Given the description of an element on the screen output the (x, y) to click on. 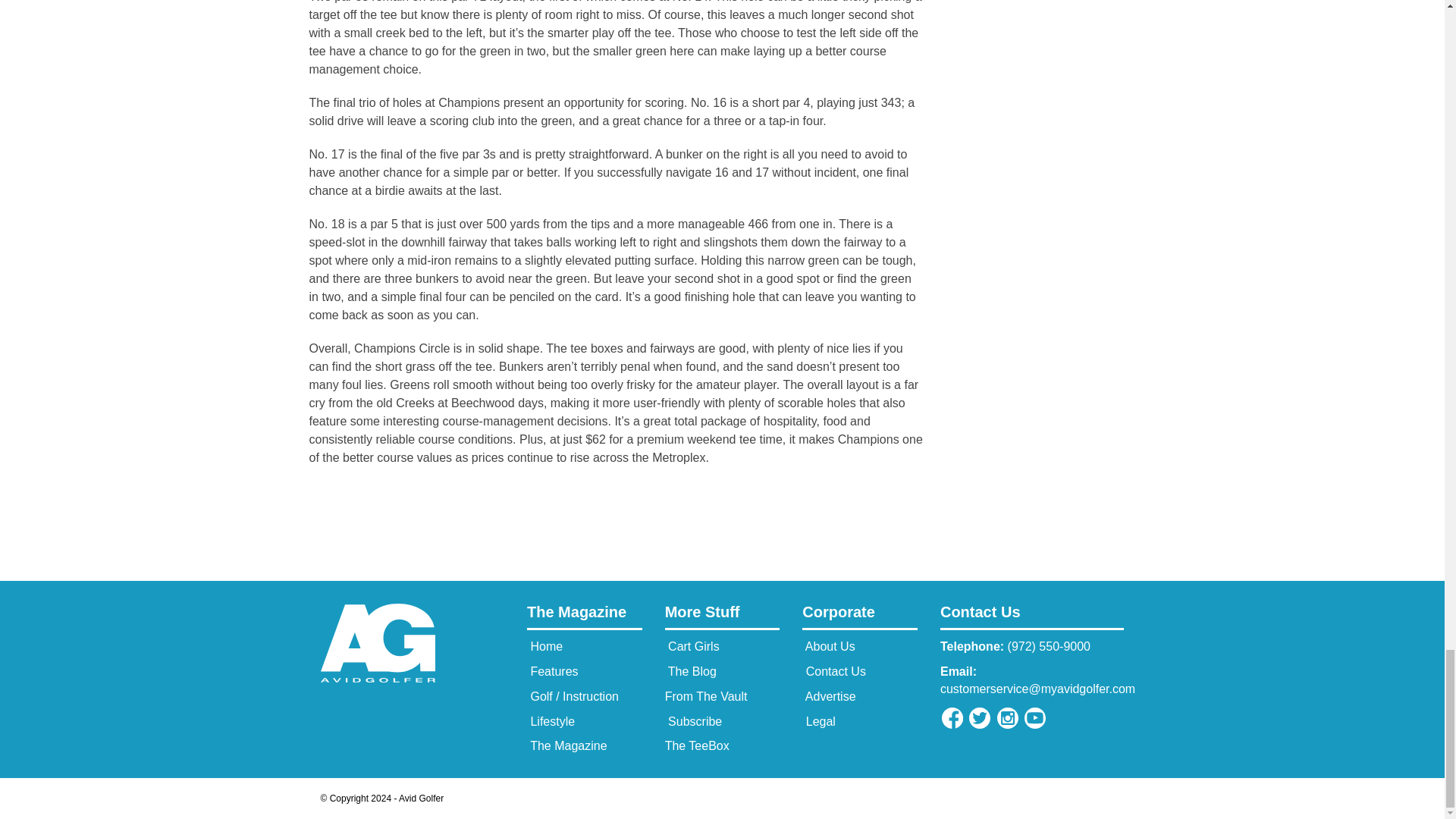
The Magazine (584, 616)
 Cart Girls (692, 645)
 Lifestyle (551, 721)
 The Blog (690, 671)
 Features (552, 671)
 Home (544, 645)
 The Magazine (567, 745)
